Given the description of an element on the screen output the (x, y) to click on. 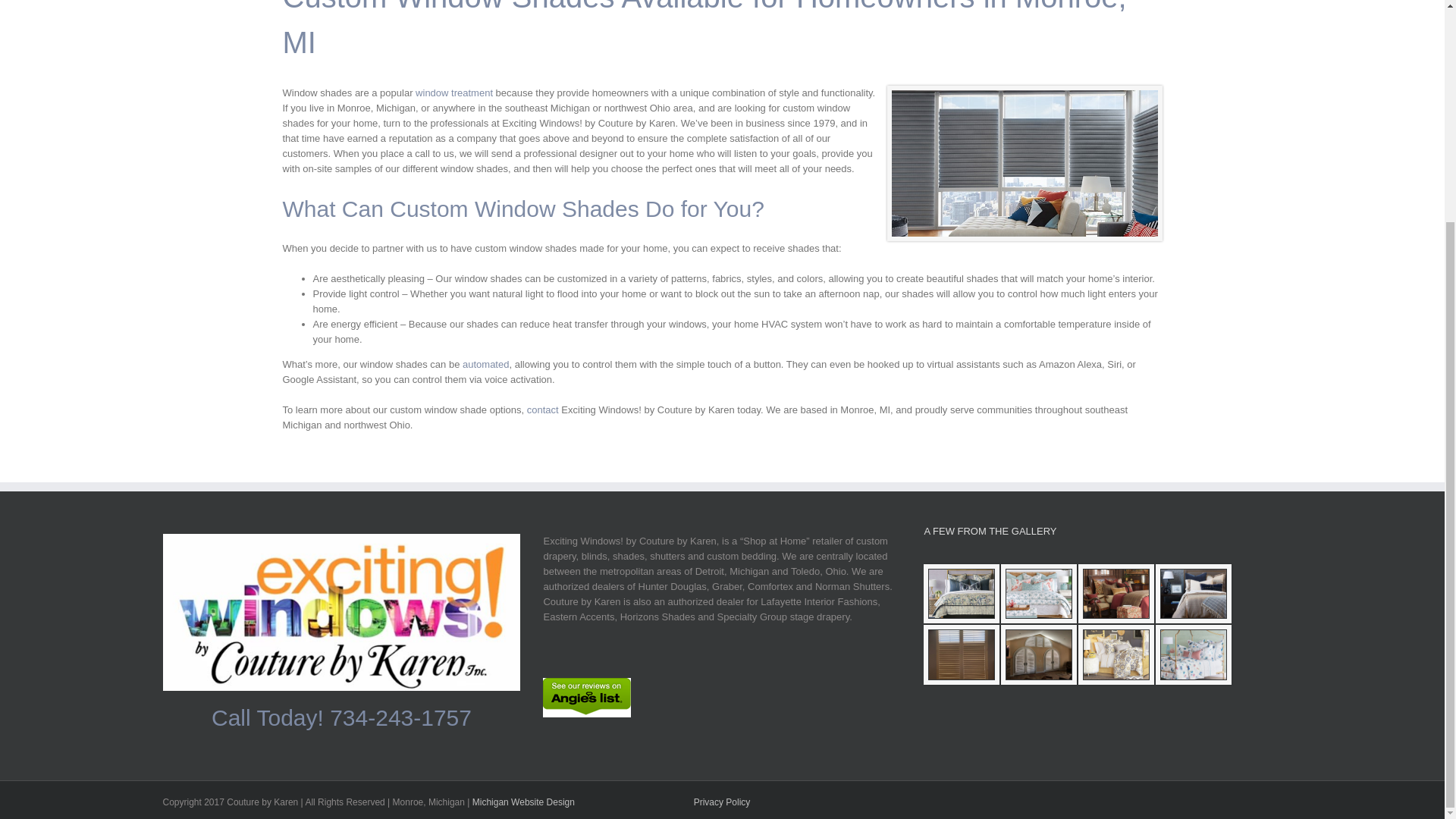
Window Shades  (1023, 162)
892-MEDIUM (1116, 594)
1324-MEDIUM (1193, 594)
1632-MEDIUM (960, 594)
933-MEDIUM (1116, 654)
